Given the description of an element on the screen output the (x, y) to click on. 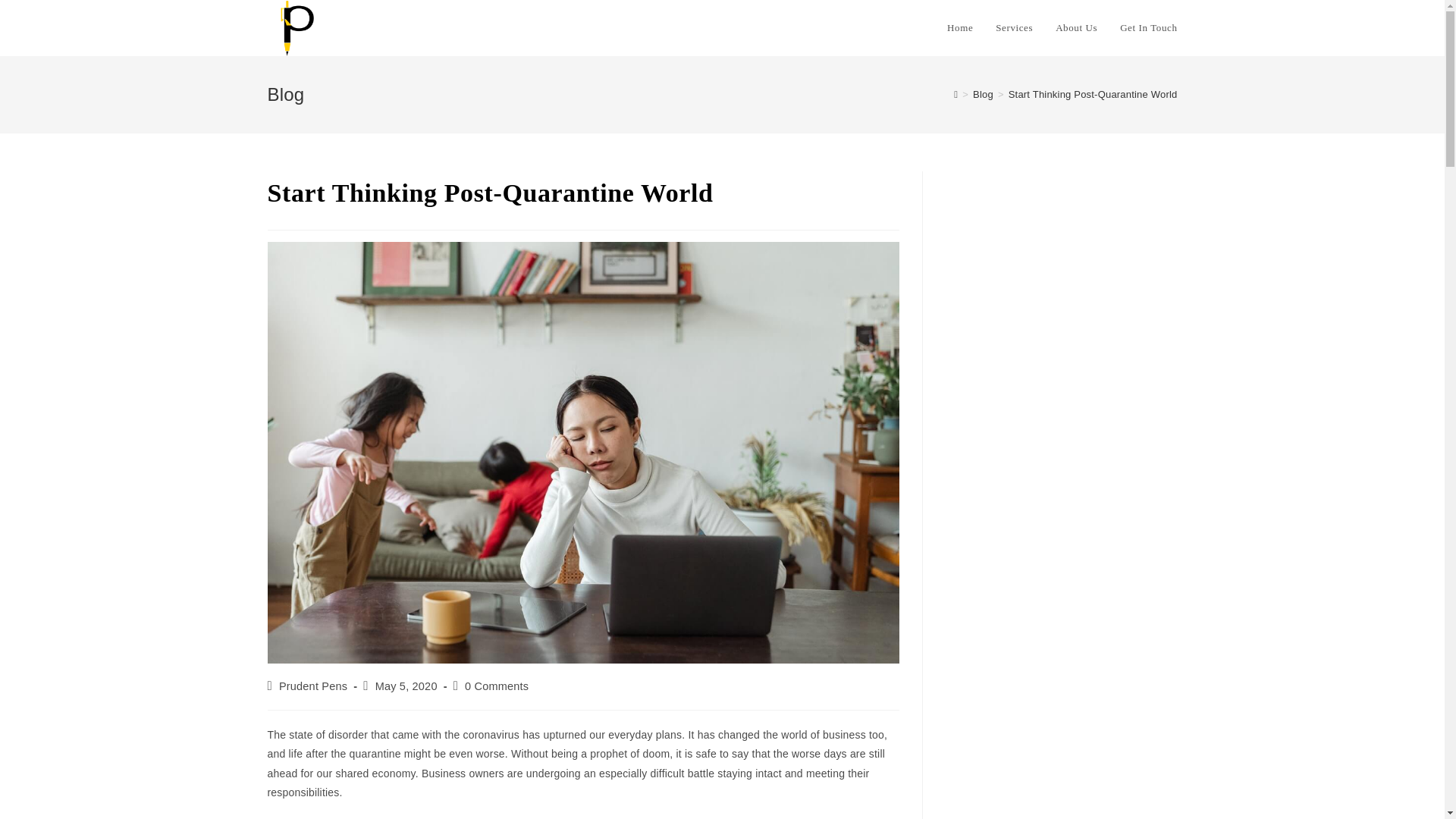
Get In Touch (1148, 28)
Blog (982, 93)
Services (1013, 28)
Posts by Prudent Pens (313, 685)
About Us (1075, 28)
0 Comments (496, 685)
Prudent Pens (313, 685)
Start Thinking Post-Quarantine World (1093, 93)
